Given the description of an element on the screen output the (x, y) to click on. 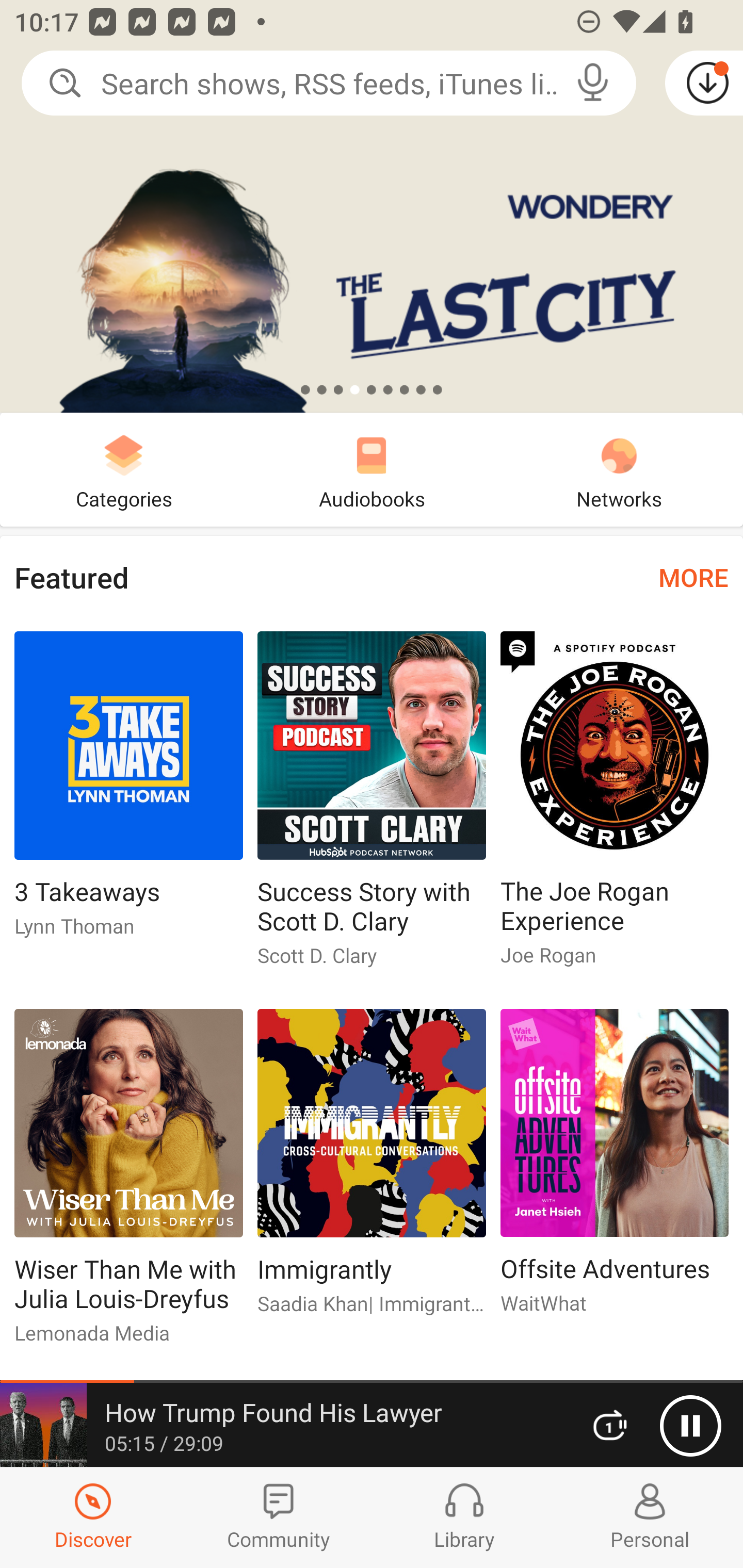
The Last City (371, 206)
Categories (123, 469)
Audiobooks (371, 469)
Networks (619, 469)
MORE (693, 576)
3 Takeaways 3 Takeaways Lynn Thoman (128, 792)
Offsite Adventures Offsite Adventures WaitWhat (614, 1169)
How Trump Found His Lawyer 05:15 / 29:09 (283, 1424)
Pause (690, 1425)
Discover (92, 1517)
Community (278, 1517)
Library (464, 1517)
Profiles and Settings Personal (650, 1517)
